Given the description of an element on the screen output the (x, y) to click on. 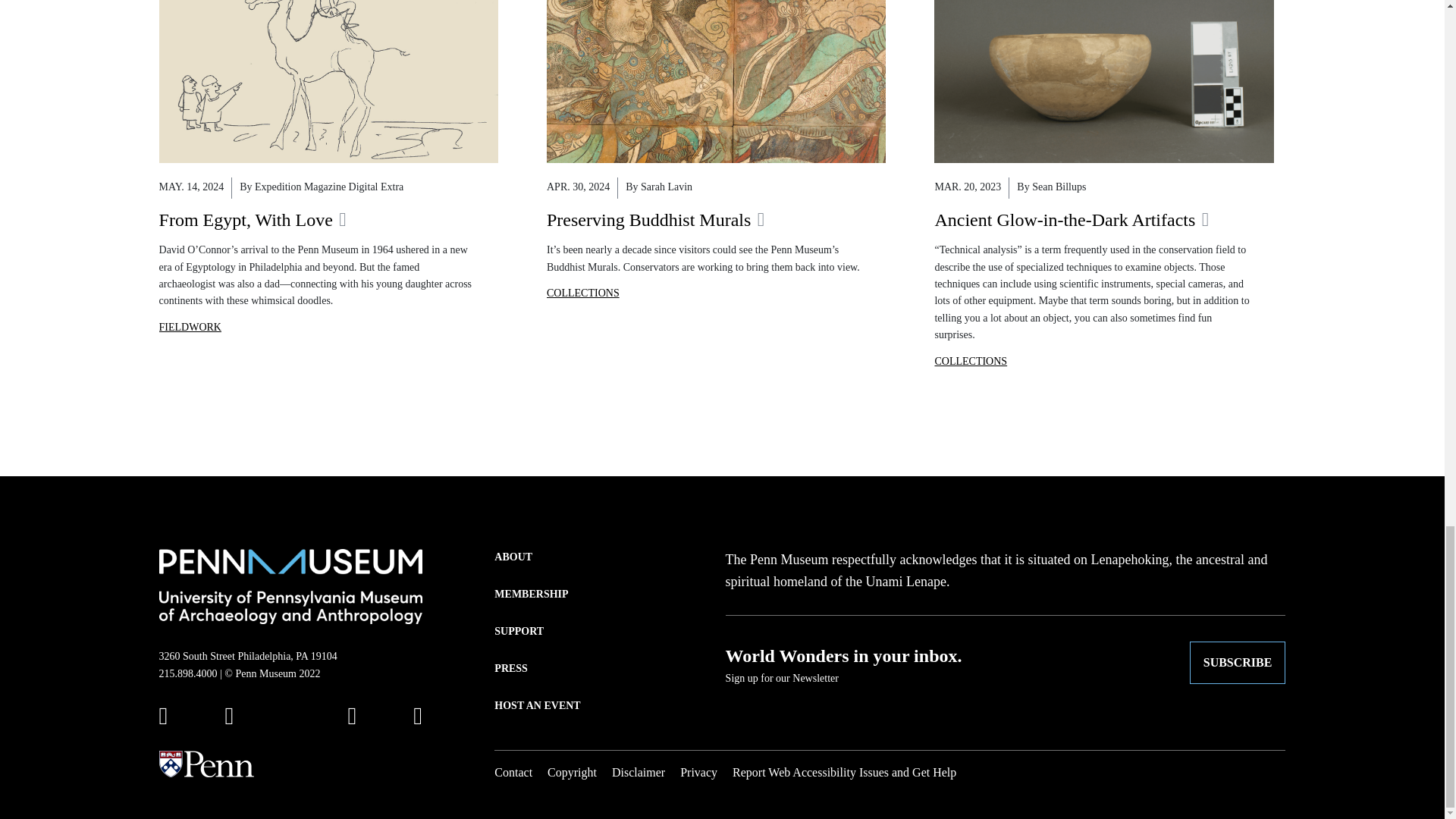
From Egypt, With Love (252, 218)
FIELDWORK (189, 326)
Report Web Accessibility Issues and Get Help (844, 772)
Privacy (698, 772)
Disclaimer (638, 772)
Contact (513, 772)
Copyright (571, 772)
